Given the description of an element on the screen output the (x, y) to click on. 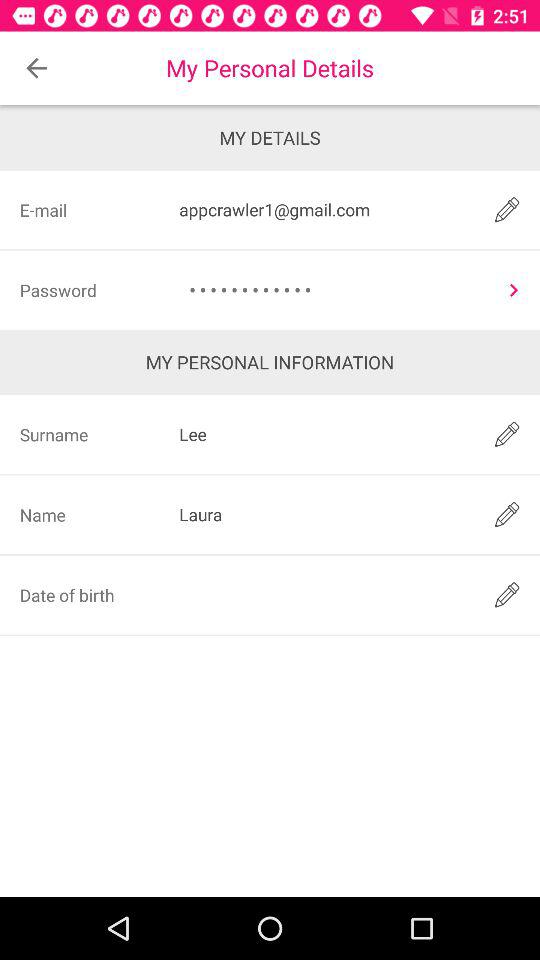
open icon to the right of surname icon (323, 434)
